Given the description of an element on the screen output the (x, y) to click on. 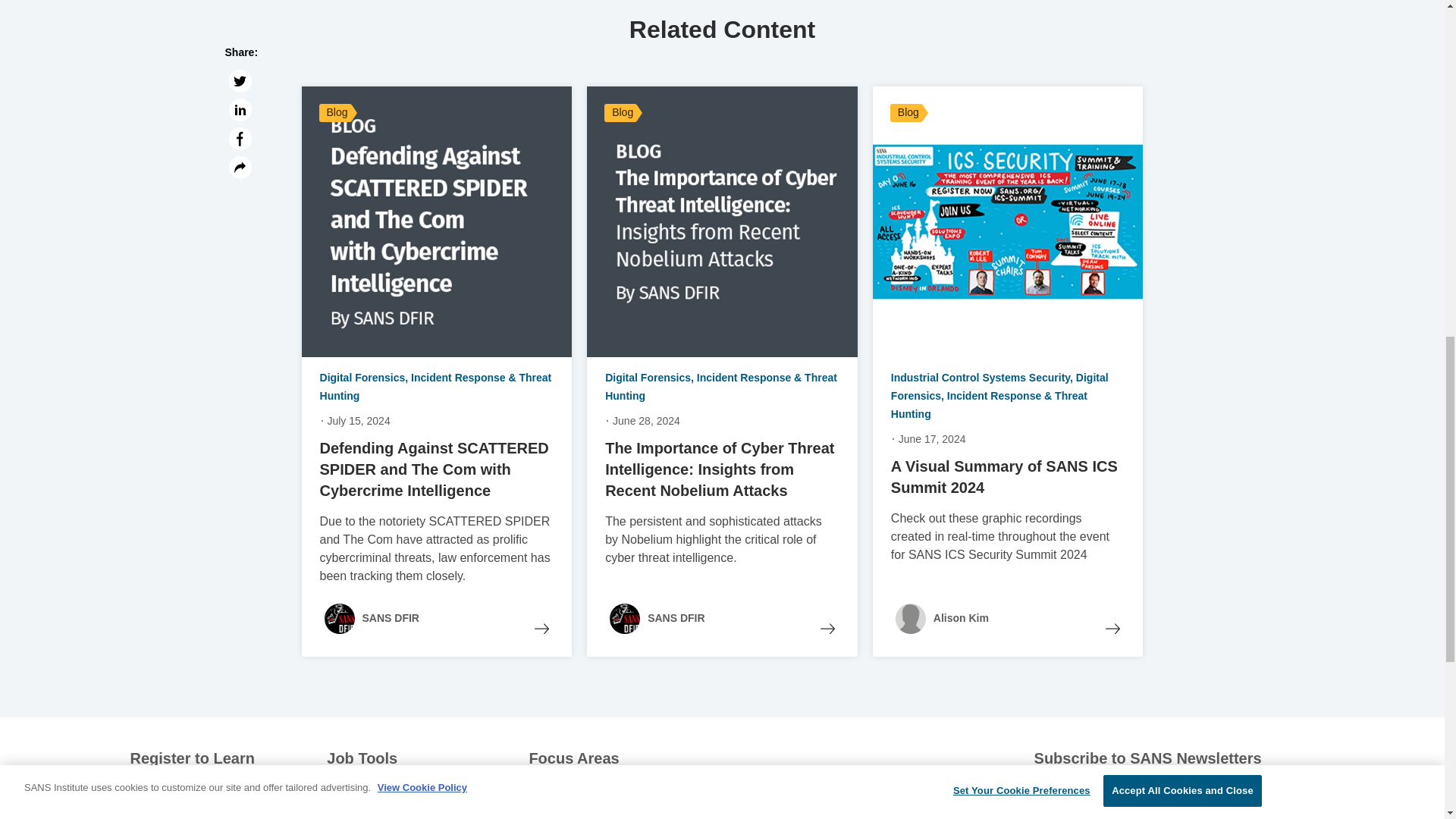
370x370-person-placeholder.png (910, 618)
ics blog image.png (1007, 221)
